Given the description of an element on the screen output the (x, y) to click on. 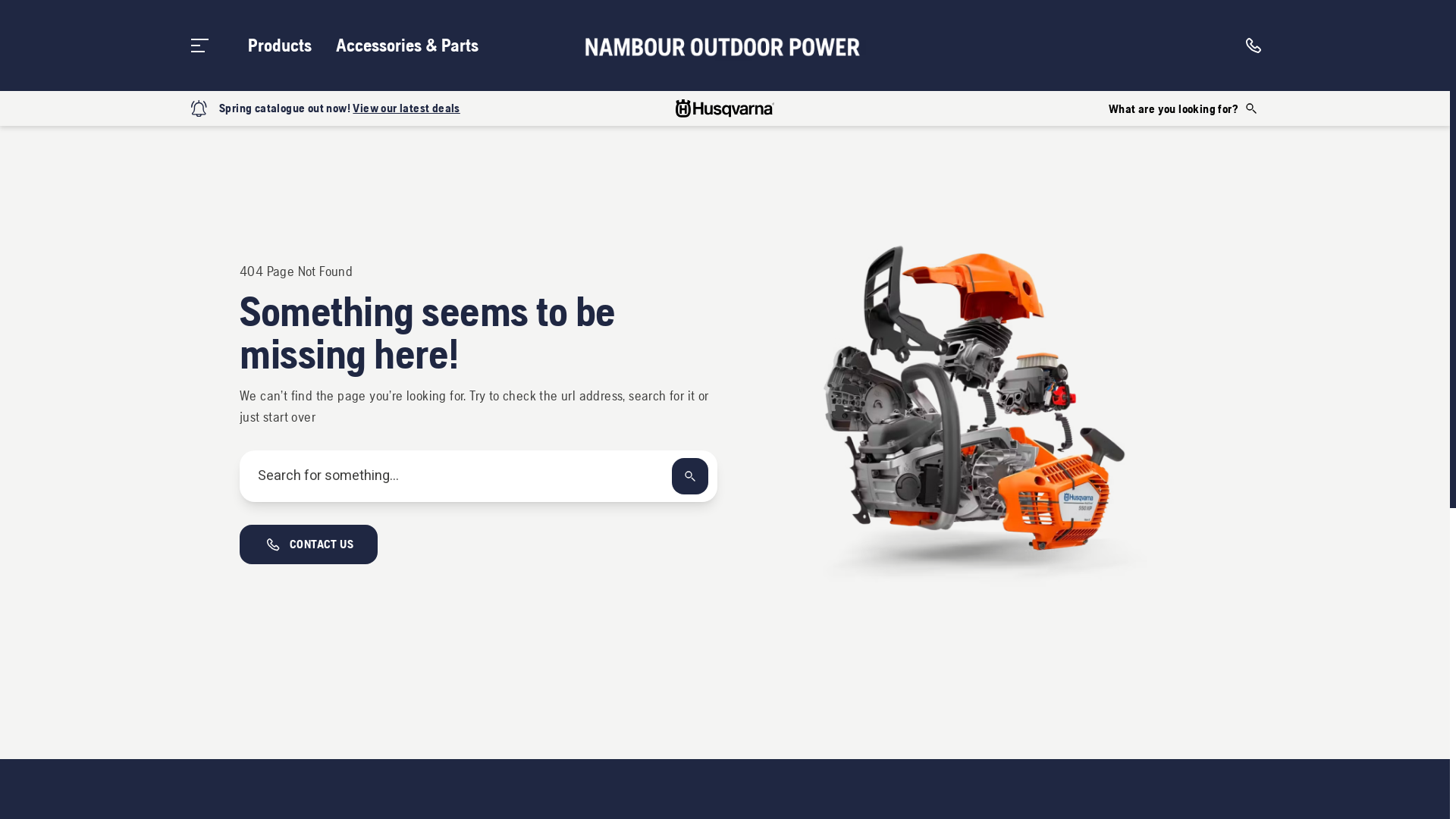
Accessories & Parts Element type: text (406, 45)
View our latest deals Element type: text (405, 107)
What are you looking for? Element type: text (1183, 108)
SEARCH Element type: text (689, 476)
Products Element type: text (279, 45)
CONTACT US Element type: text (308, 544)
